Given the description of an element on the screen output the (x, y) to click on. 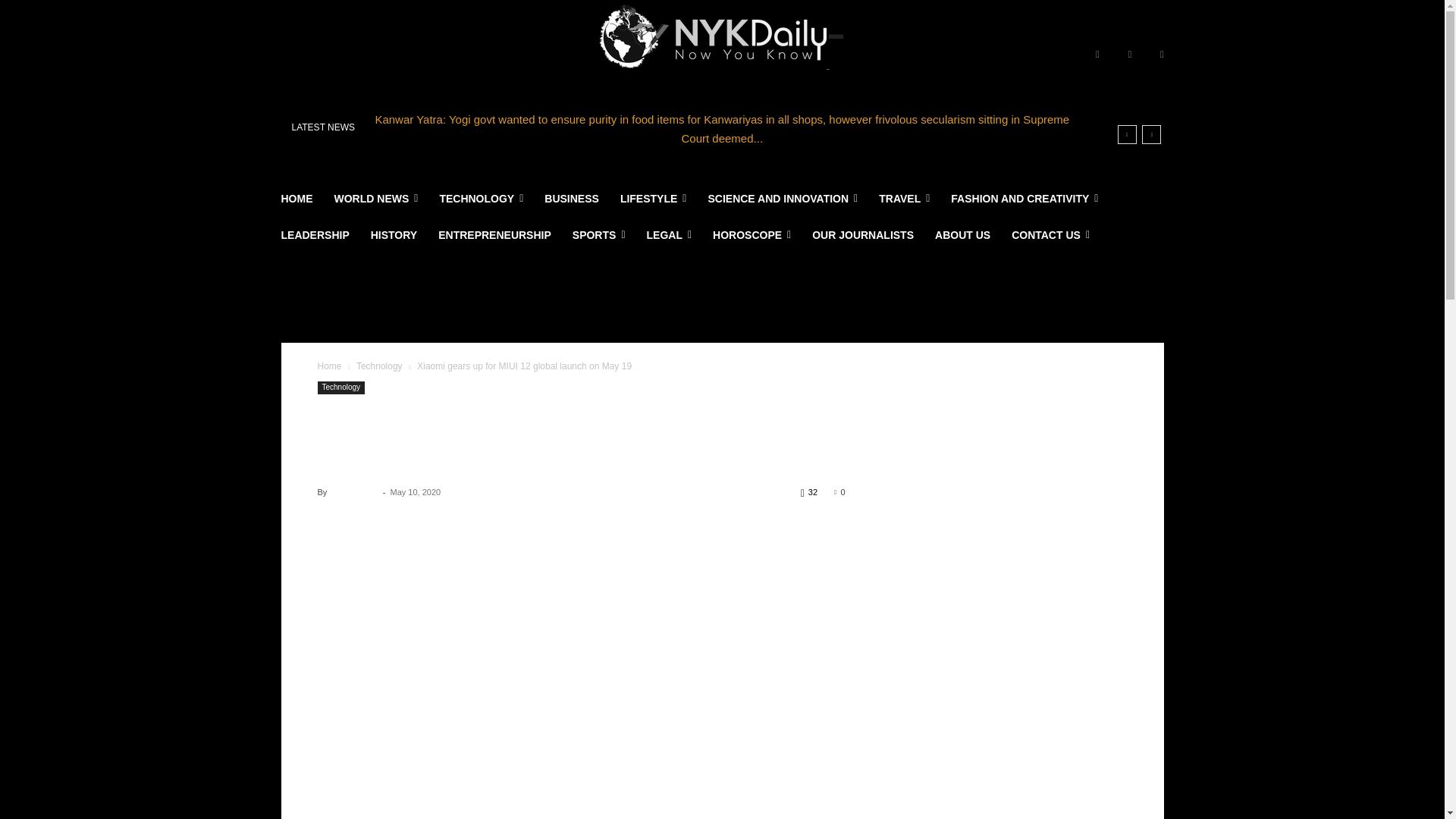
Twitter (1162, 54)
Facebook (1096, 54)
Instagram (1130, 54)
